Given the description of an element on the screen output the (x, y) to click on. 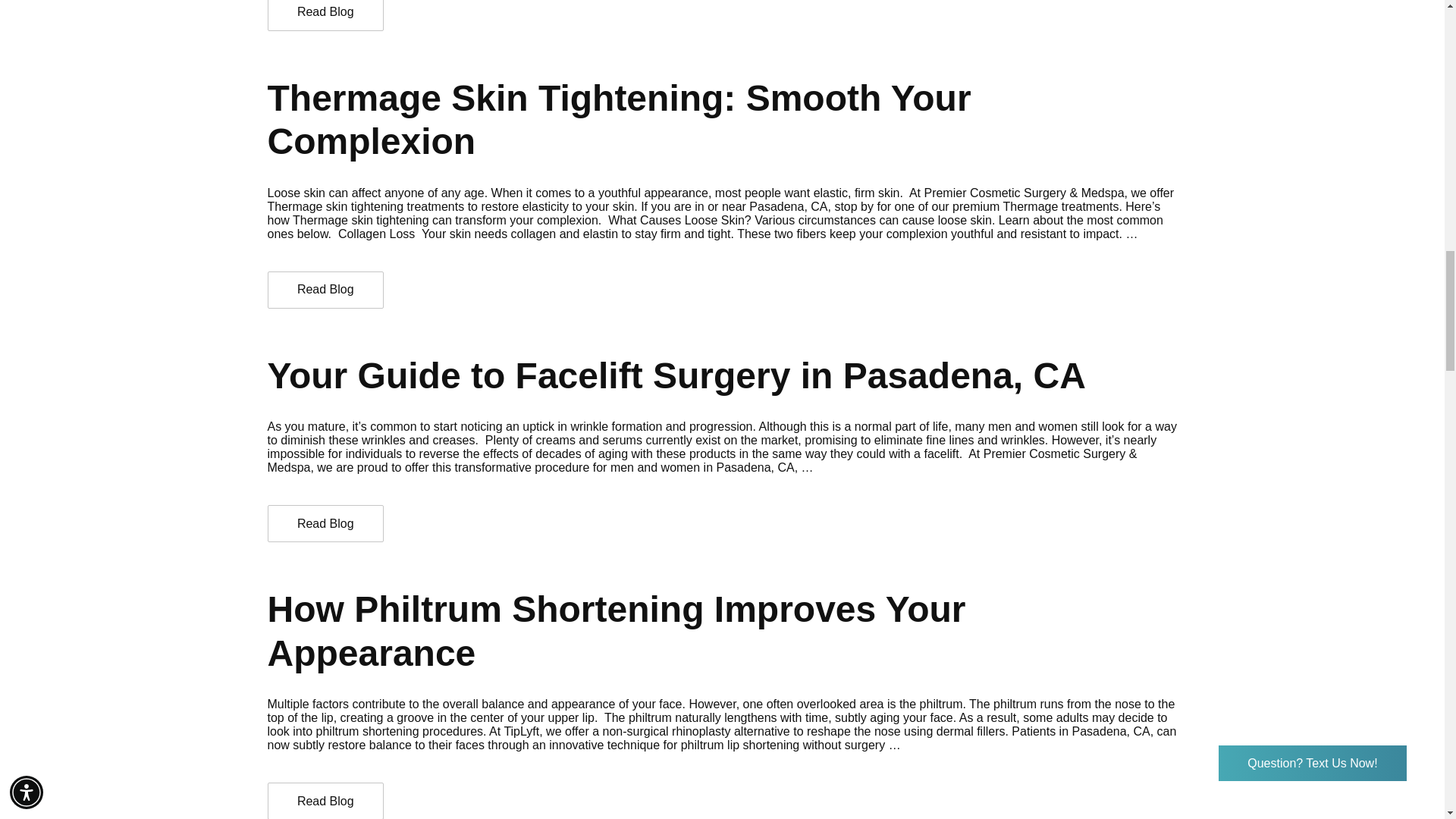
How Philtrum Shortening Improves Your Appearance (325, 800)
Your Guide to Facelift Surgery in Pasadena, CA (325, 523)
Thermage Skin Tightening: Smooth Your Complexion (325, 289)
What is a Medspa? (325, 15)
